Given the description of an element on the screen output the (x, y) to click on. 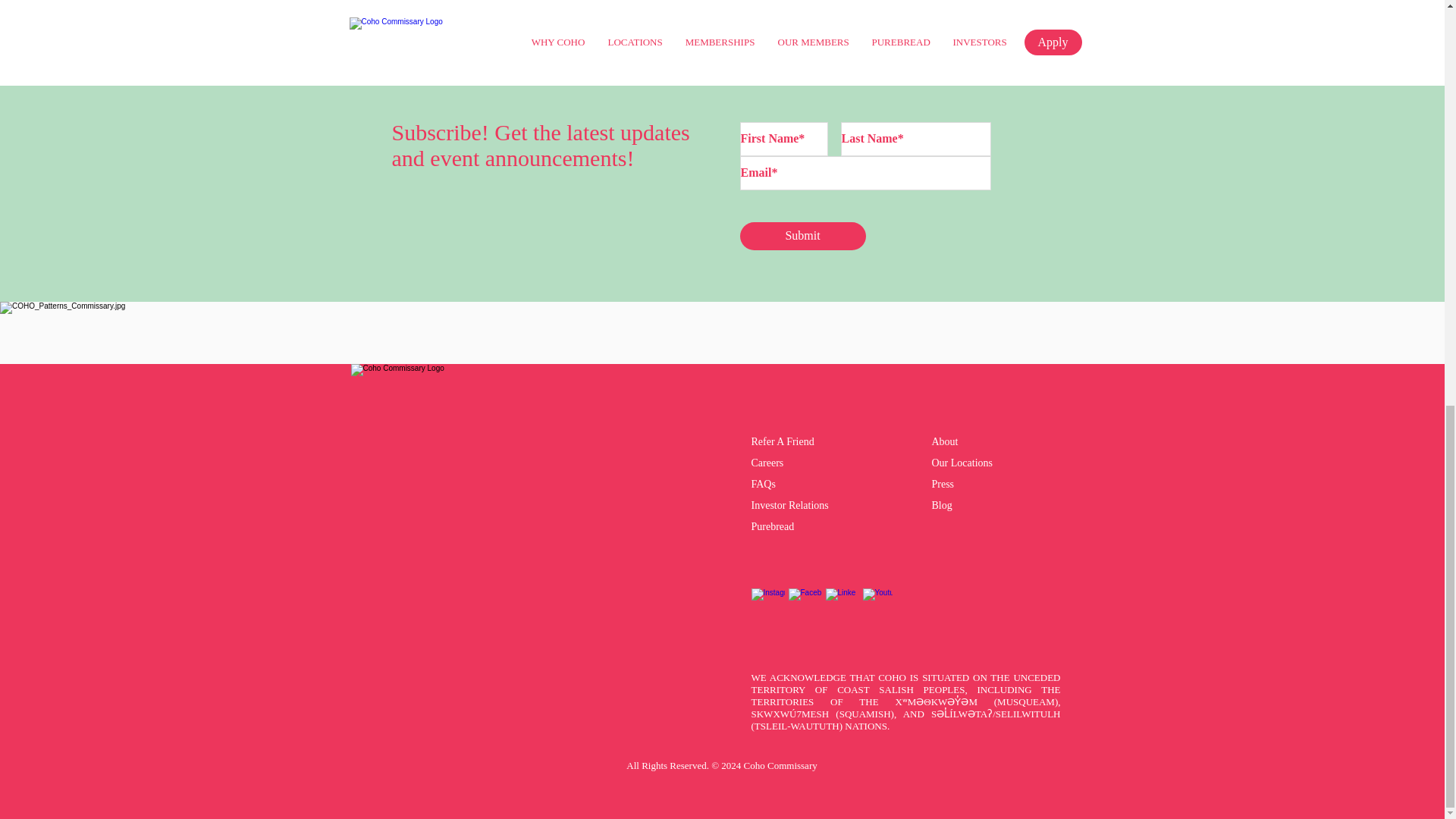
FAQs (762, 483)
Press (942, 483)
Refer A Friend (782, 441)
About (944, 441)
Blog (941, 505)
Investor Relations (789, 505)
Submit (802, 235)
Careers (767, 462)
Purebread  (773, 526)
Our Locations (961, 462)
